Given the description of an element on the screen output the (x, y) to click on. 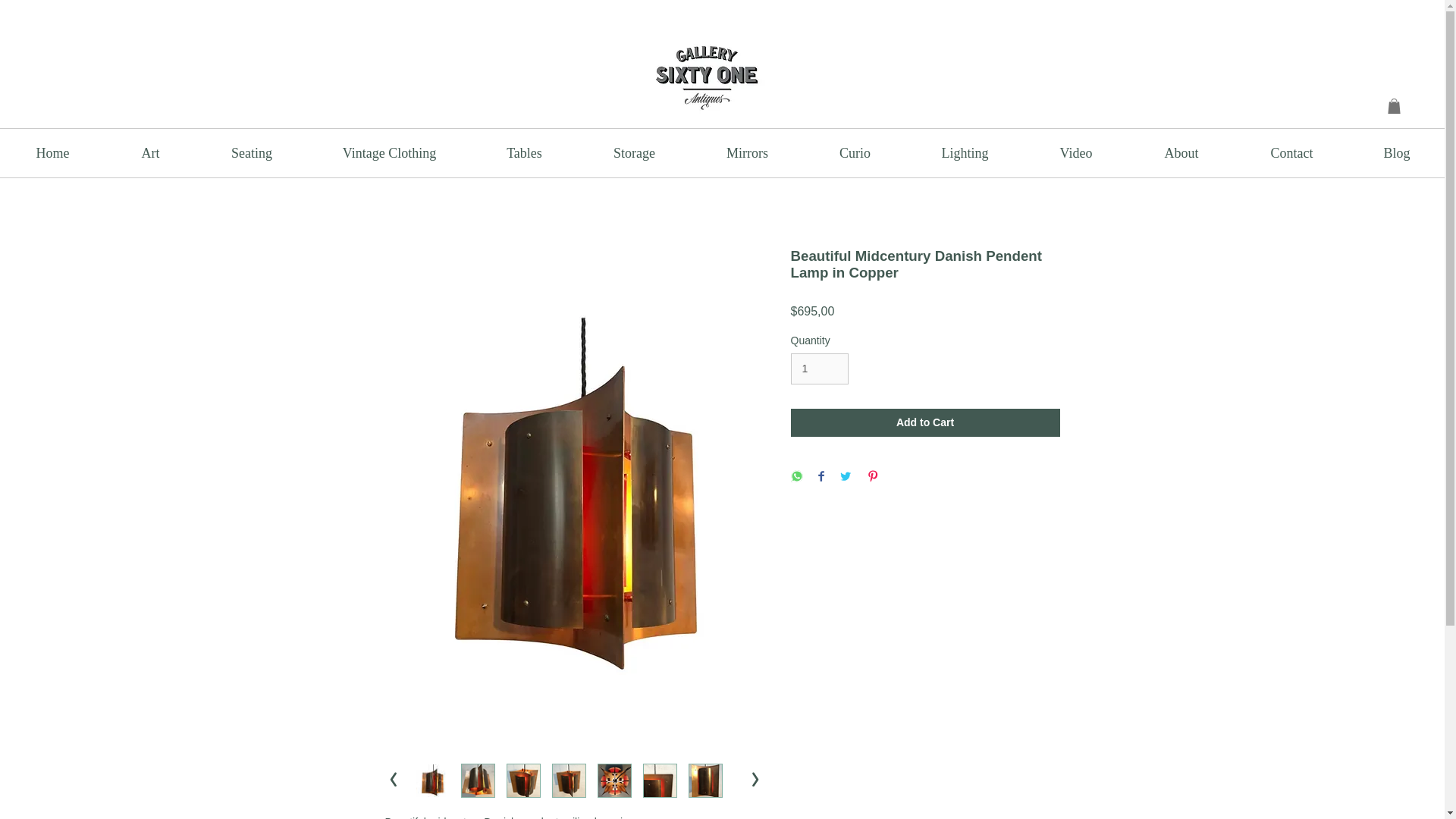
1 (818, 368)
About (1181, 152)
Seating (251, 152)
Storage (634, 152)
Art (149, 152)
Mirrors (746, 152)
Add to Cart (924, 421)
Video (1075, 152)
Home (52, 152)
Curio (854, 152)
Vintage Clothing (388, 152)
Tables (524, 152)
Lighting (964, 152)
Contact (1291, 152)
